Given the description of an element on the screen output the (x, y) to click on. 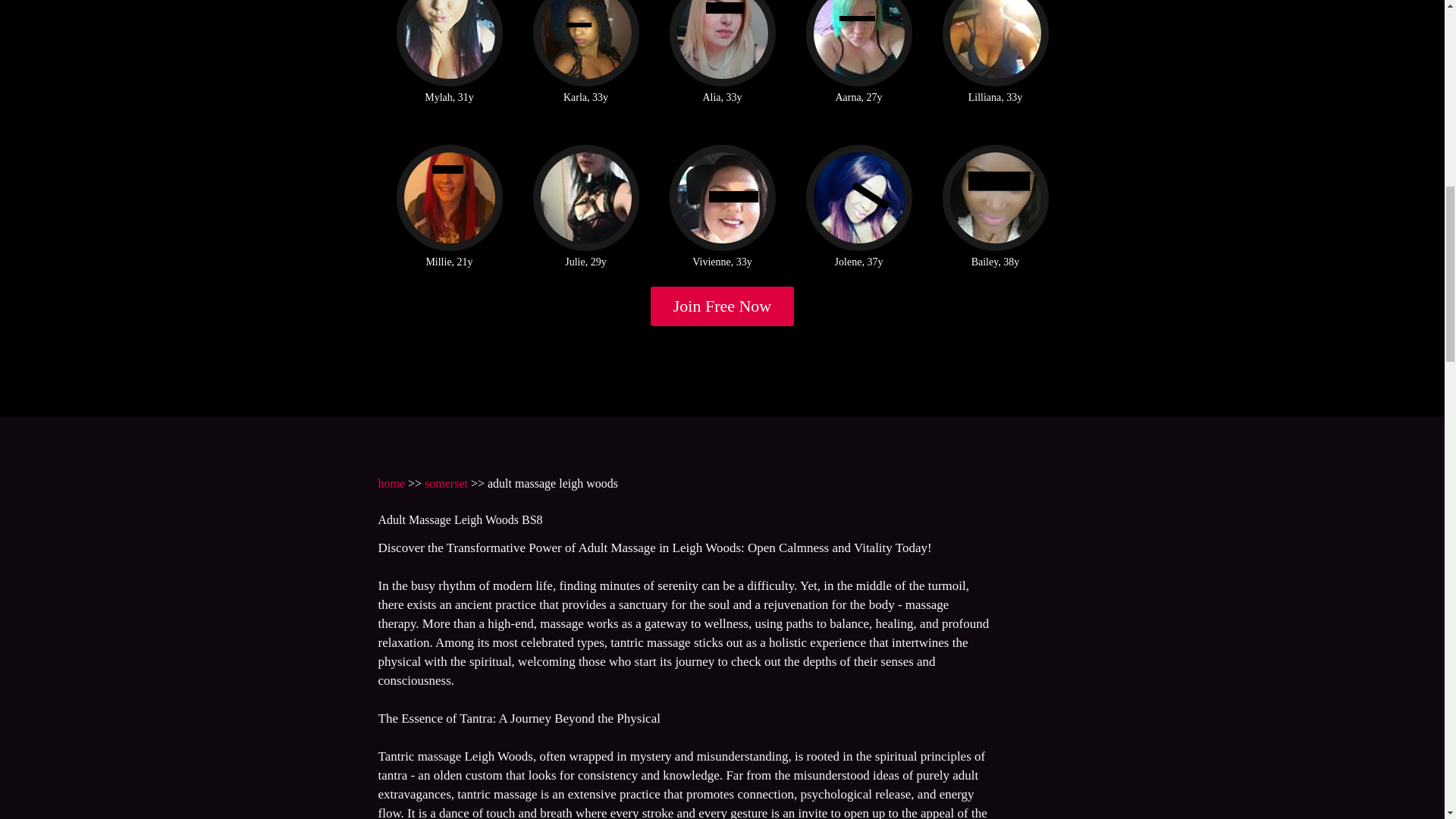
somerset (446, 482)
Join Free Now (722, 305)
Join (722, 305)
home (390, 482)
